Given the description of an element on the screen output the (x, y) to click on. 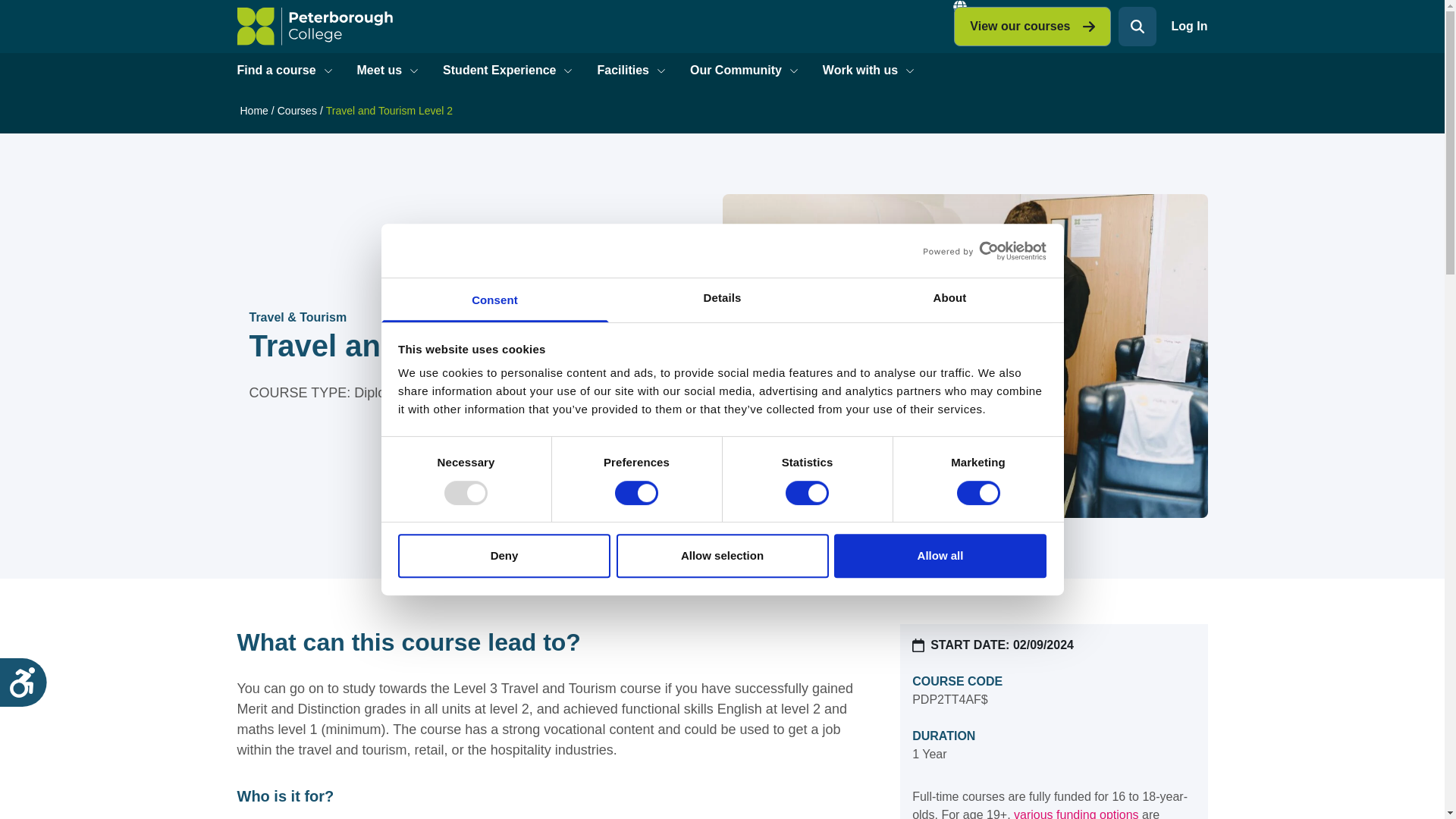
About (948, 300)
Details (721, 300)
Consent (494, 300)
